Given the description of an element on the screen output the (x, y) to click on. 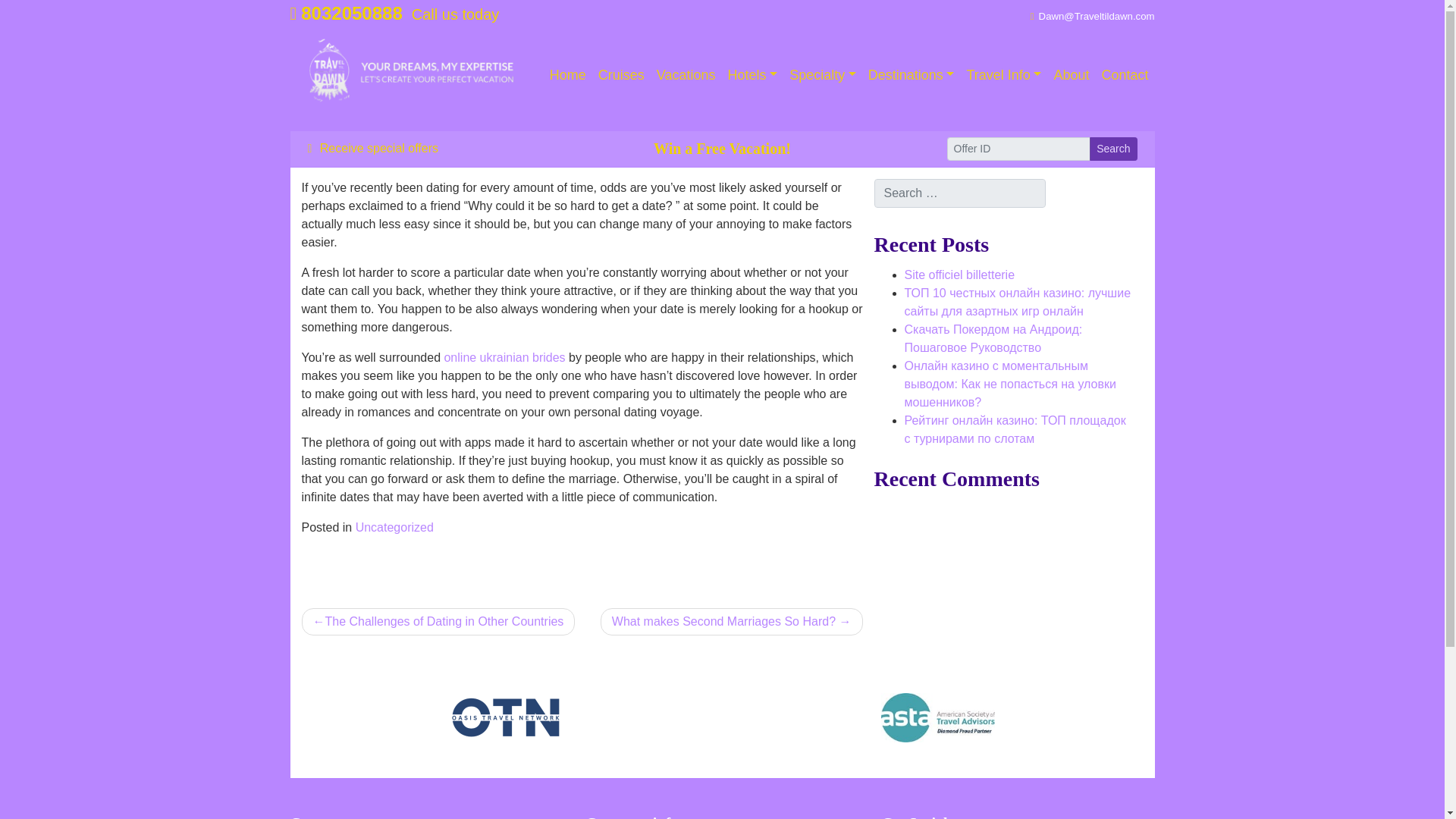
About (1070, 74)
Hotels (753, 74)
Vacations (686, 74)
8032050888 (345, 13)
Home (567, 74)
Call us (345, 13)
Cruises (621, 74)
Specialty (822, 74)
Travel Info (1002, 74)
Destinations (910, 74)
Search for: (959, 193)
Contact (1124, 74)
